Given the description of an element on the screen output the (x, y) to click on. 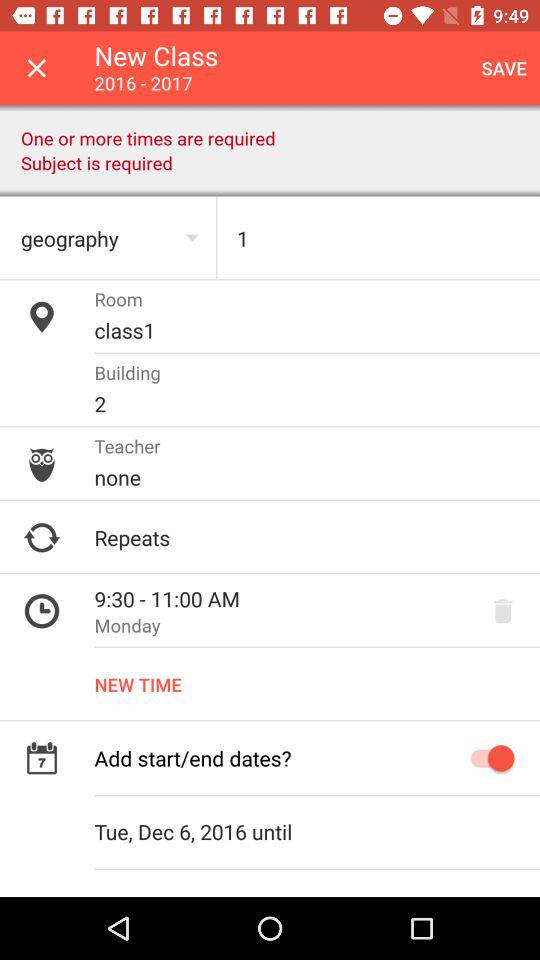
delete (503, 611)
